Given the description of an element on the screen output the (x, y) to click on. 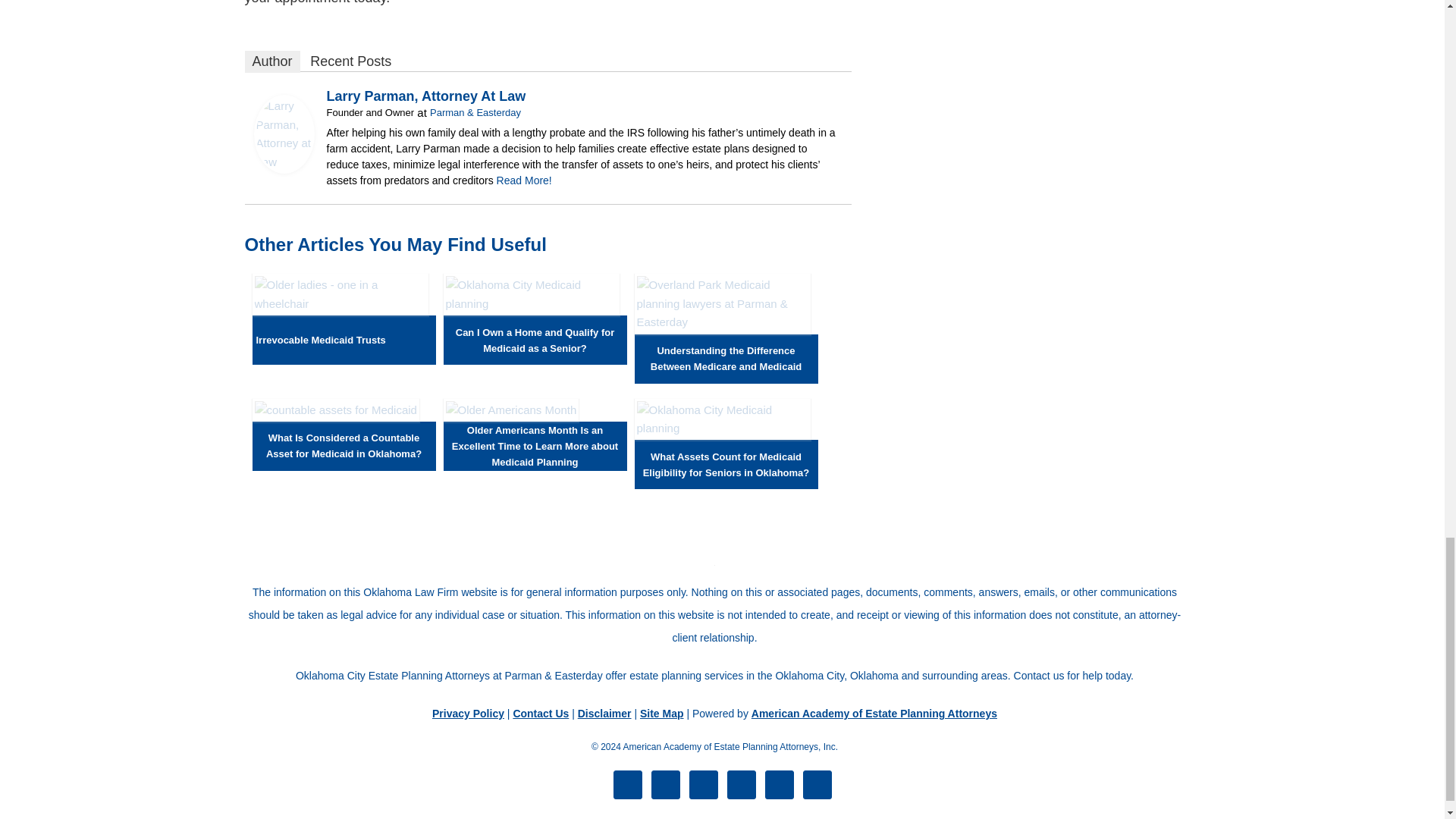
Can I Own a Home and Qualify for Medicaid as a Senior? (534, 340)
Irrevocable Medicaid Trusts (320, 340)
Larry Parman, Attorney at Law (283, 169)
Can I Own a Home and Qualify for Medicaid as a Senior? (530, 303)
Understanding the Difference Between Medicare and Medicaid (726, 358)
Understanding the Difference Between Medicare and Medicaid (721, 321)
Irrevocable Medicaid Trusts (339, 303)
